Given the description of an element on the screen output the (x, y) to click on. 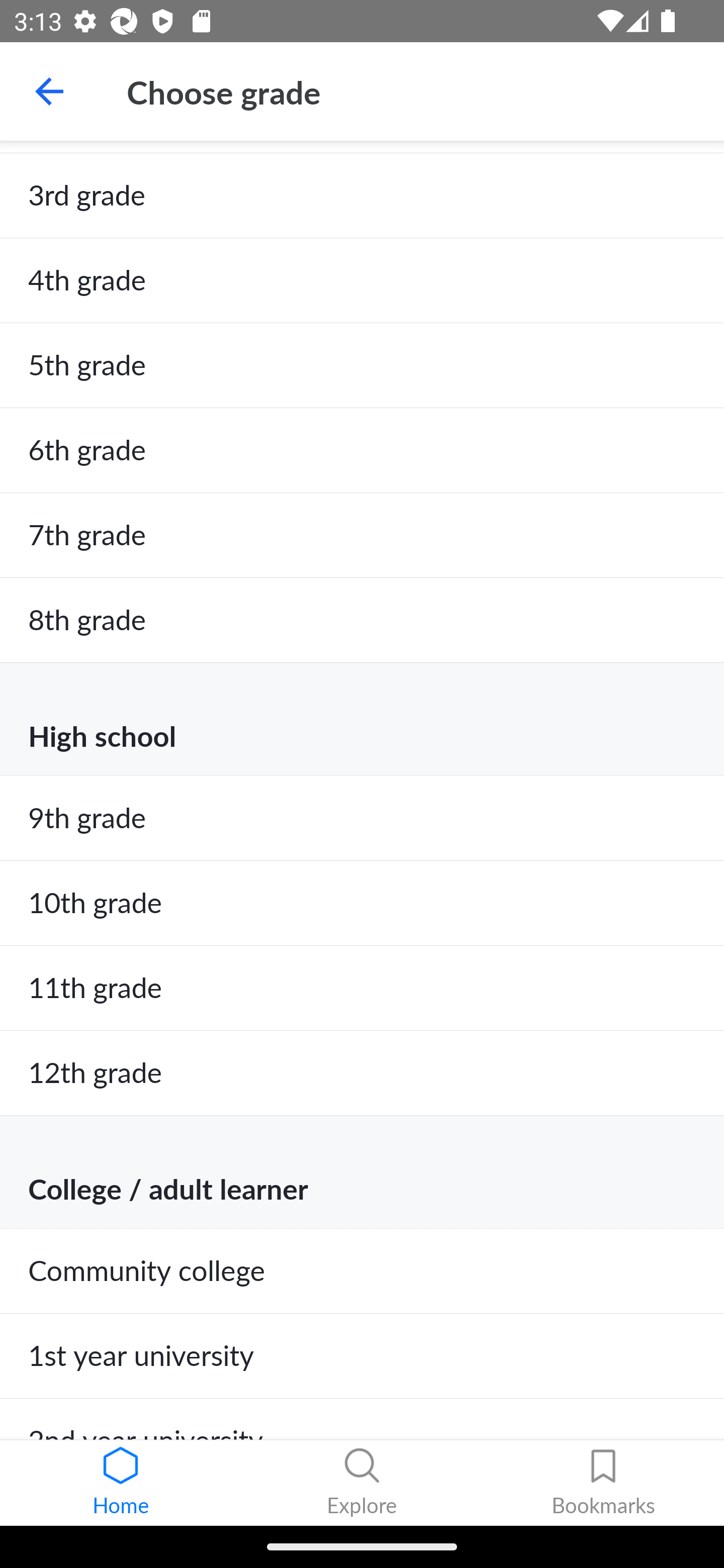
Navigate up (49, 91)
3rd grade (362, 195)
4th grade (362, 280)
5th grade (362, 365)
6th grade (362, 449)
7th grade (362, 535)
8th grade (362, 620)
9th grade (362, 818)
10th grade (362, 902)
11th grade (362, 987)
12th grade (362, 1073)
Community college (362, 1271)
1st year university (362, 1355)
Home (120, 1482)
Explore (361, 1482)
Bookmarks (603, 1482)
